Given the description of an element on the screen output the (x, y) to click on. 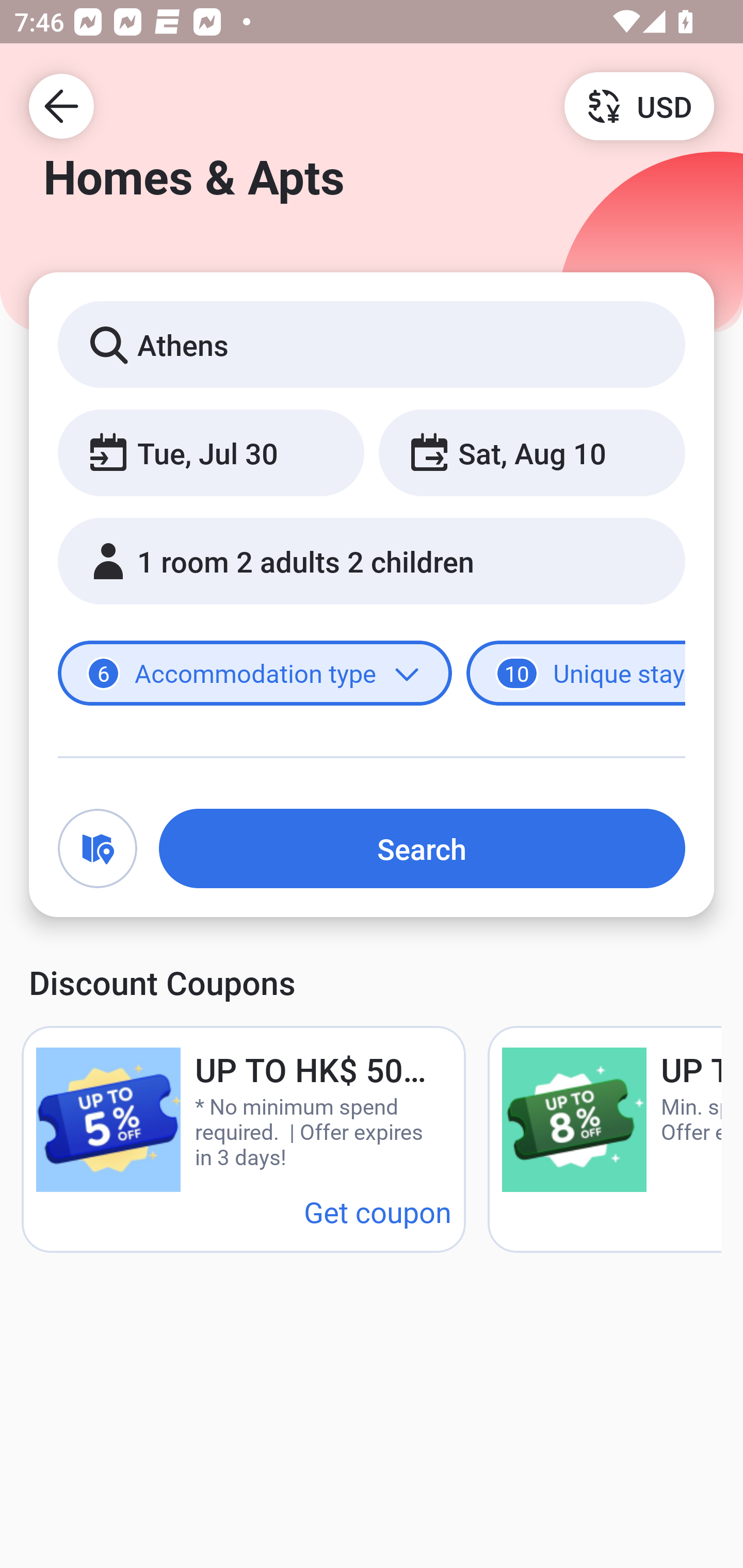
USD (639, 105)
Athens (371, 344)
Tue, Jul 30 (210, 452)
Sat, Aug 10 (531, 452)
1 room 2 adults 2 children (371, 561)
6 Accommodation type (254, 673)
10 Unique stays (575, 673)
Search (422, 848)
Get coupon (377, 1211)
